Given the description of an element on the screen output the (x, y) to click on. 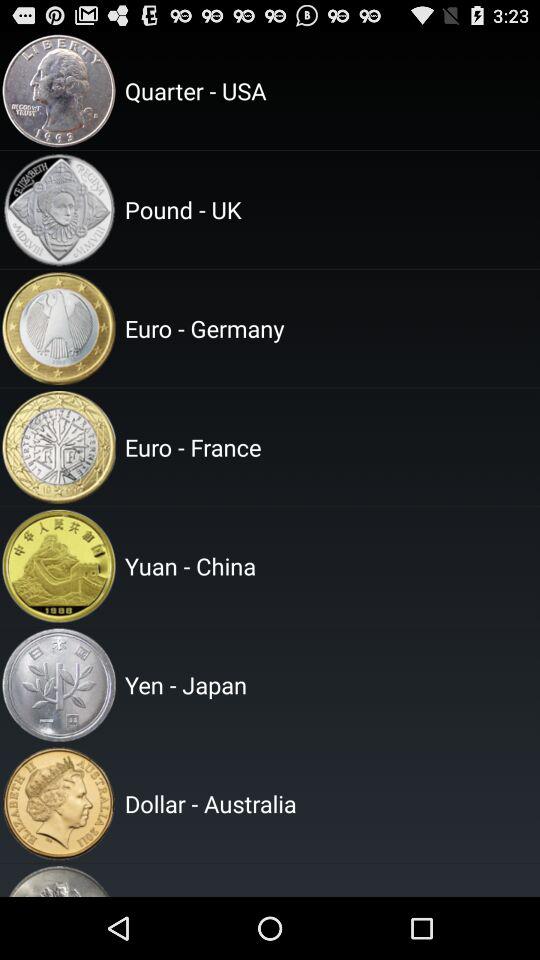
jump until yuan - china item (329, 565)
